Given the description of an element on the screen output the (x, y) to click on. 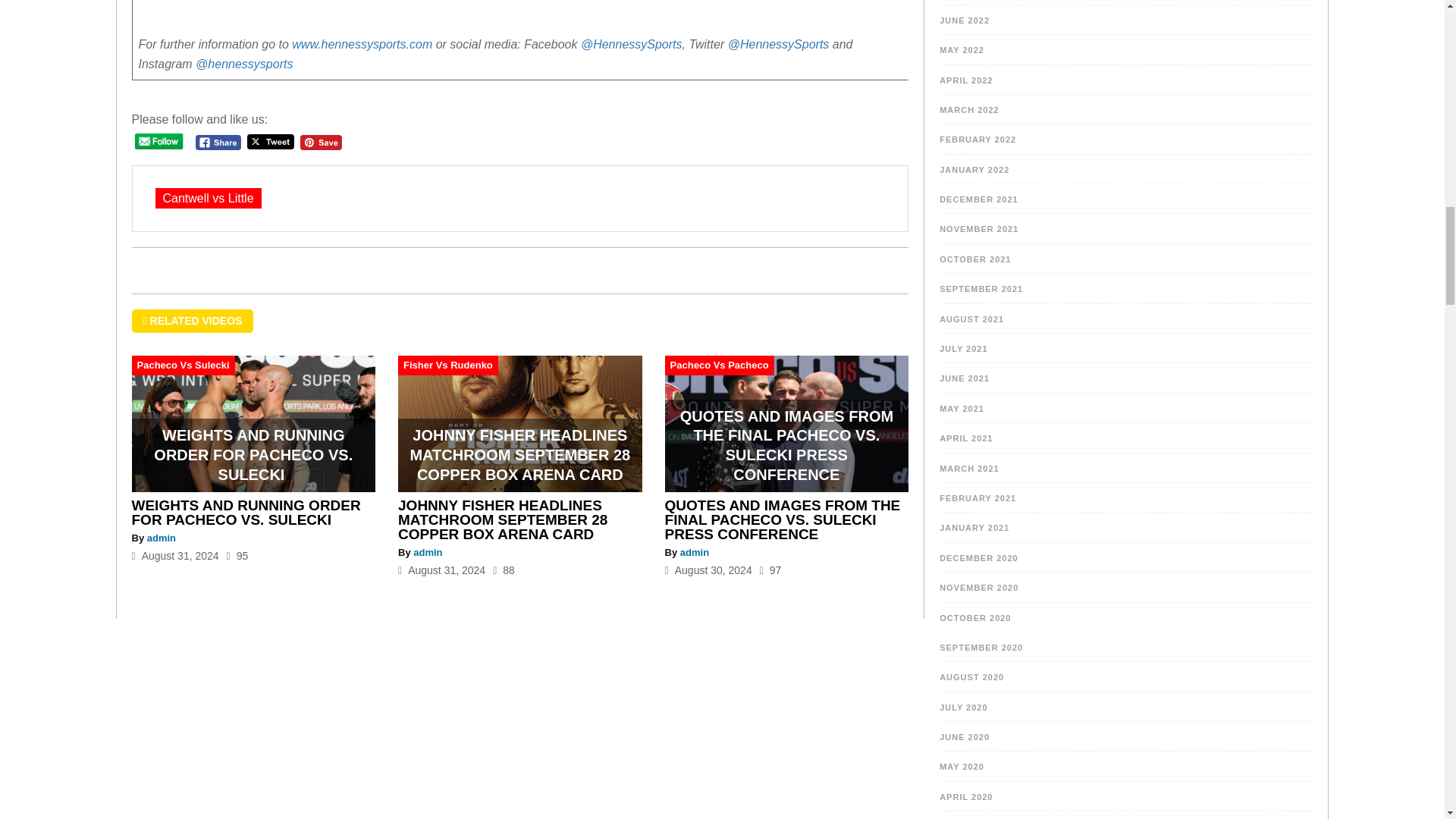
Facebook Share (218, 142)
WEIGHTS AND RUNNING ORDER FOR PACHECO VS. SULECKI  (246, 512)
Tweet (270, 141)
Posts by admin (694, 552)
Posts by admin (161, 537)
Visits (237, 555)
Visits (504, 570)
admin (694, 552)
